Given the description of an element on the screen output the (x, y) to click on. 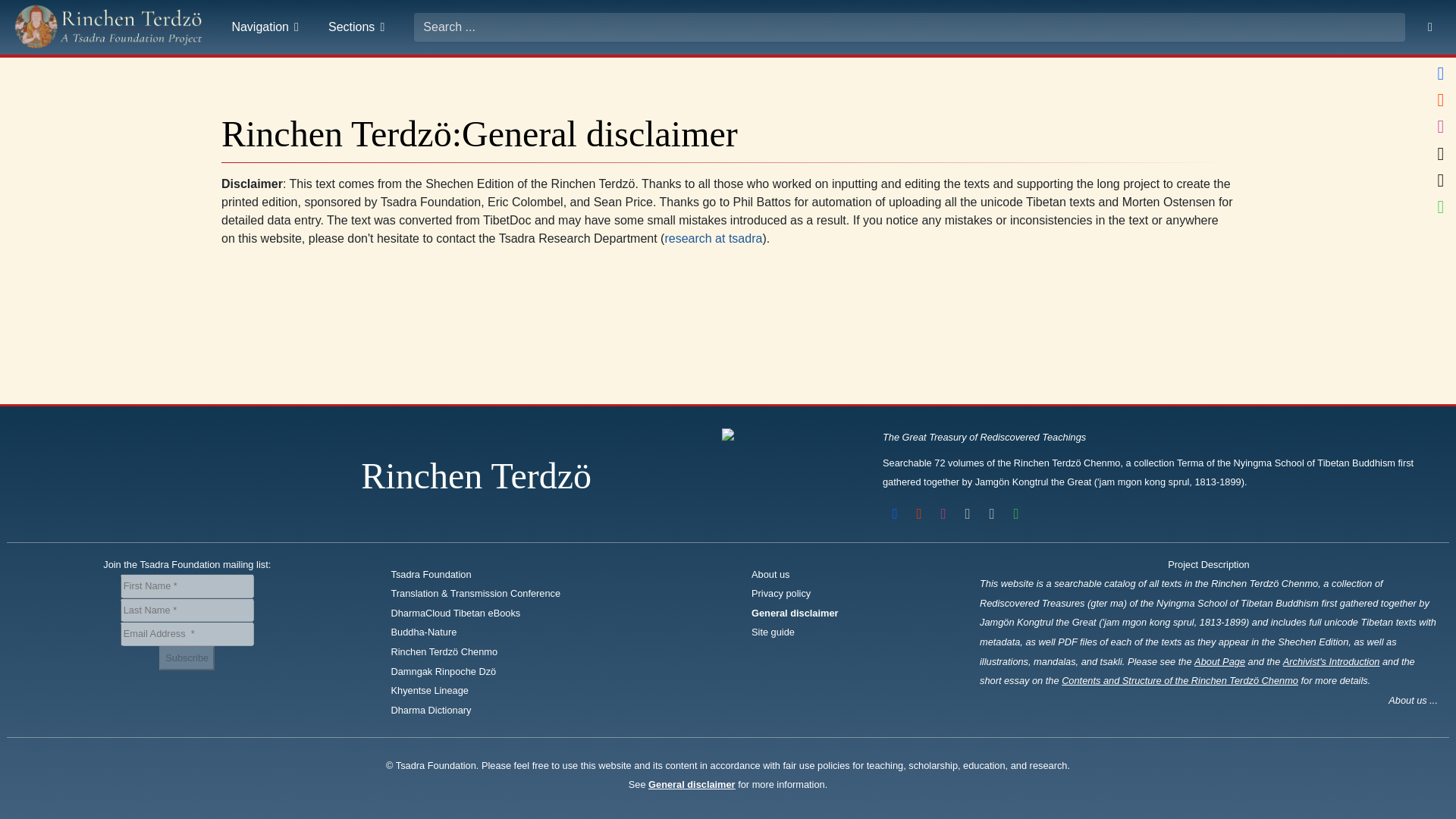
Threads (1440, 153)
Facebook (1440, 72)
research at tsadra (712, 237)
YouTube (1440, 99)
Sections (358, 27)
Visit the main page (108, 27)
Navigation (267, 27)
Tsadra Foundation (437, 573)
YouTube (919, 514)
Facebook (894, 514)
